Given the description of an element on the screen output the (x, y) to click on. 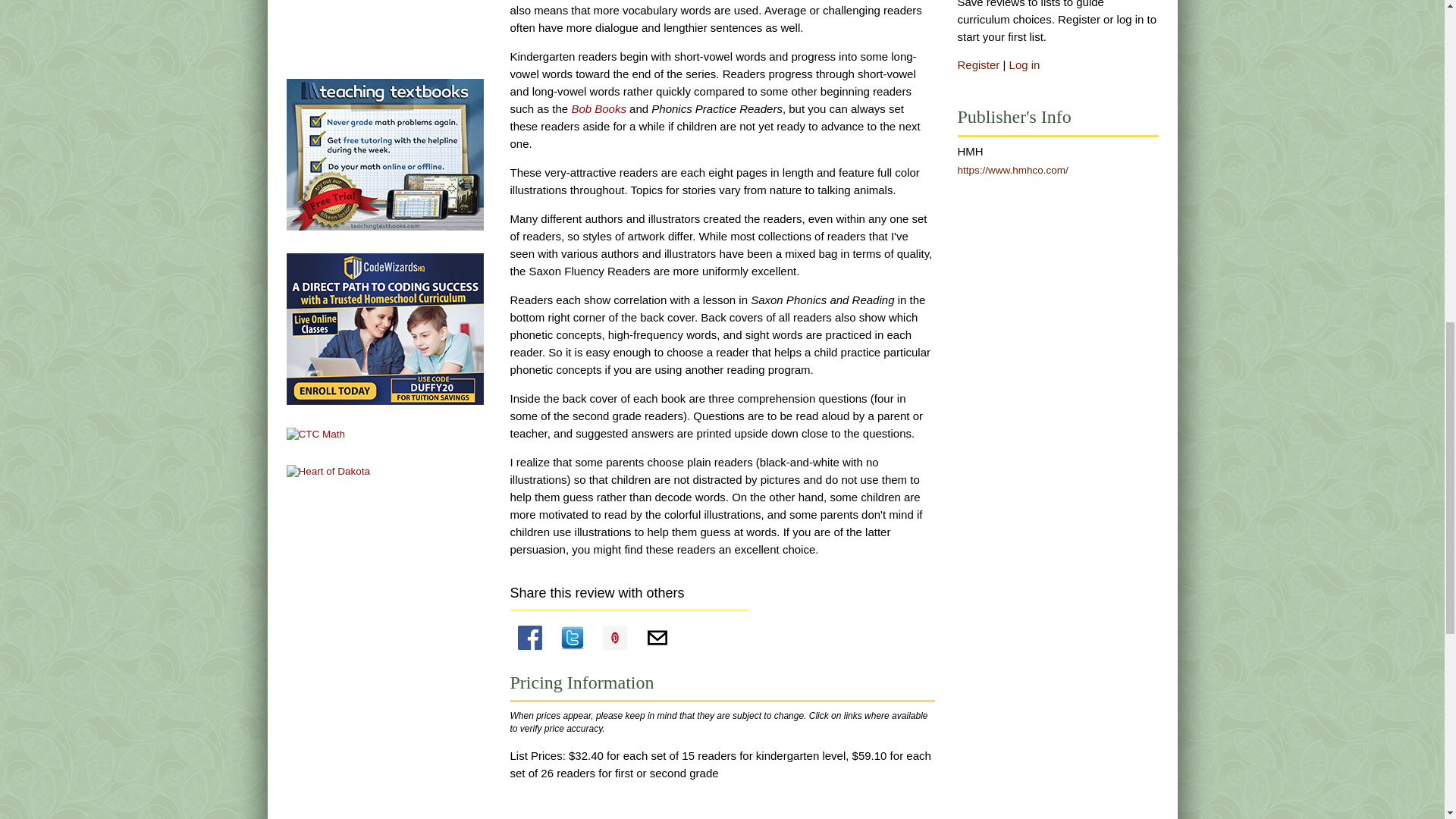
Heart of Dakota (328, 470)
chris (316, 433)
Teaching Textbooks (384, 153)
